Given the description of an element on the screen output the (x, y) to click on. 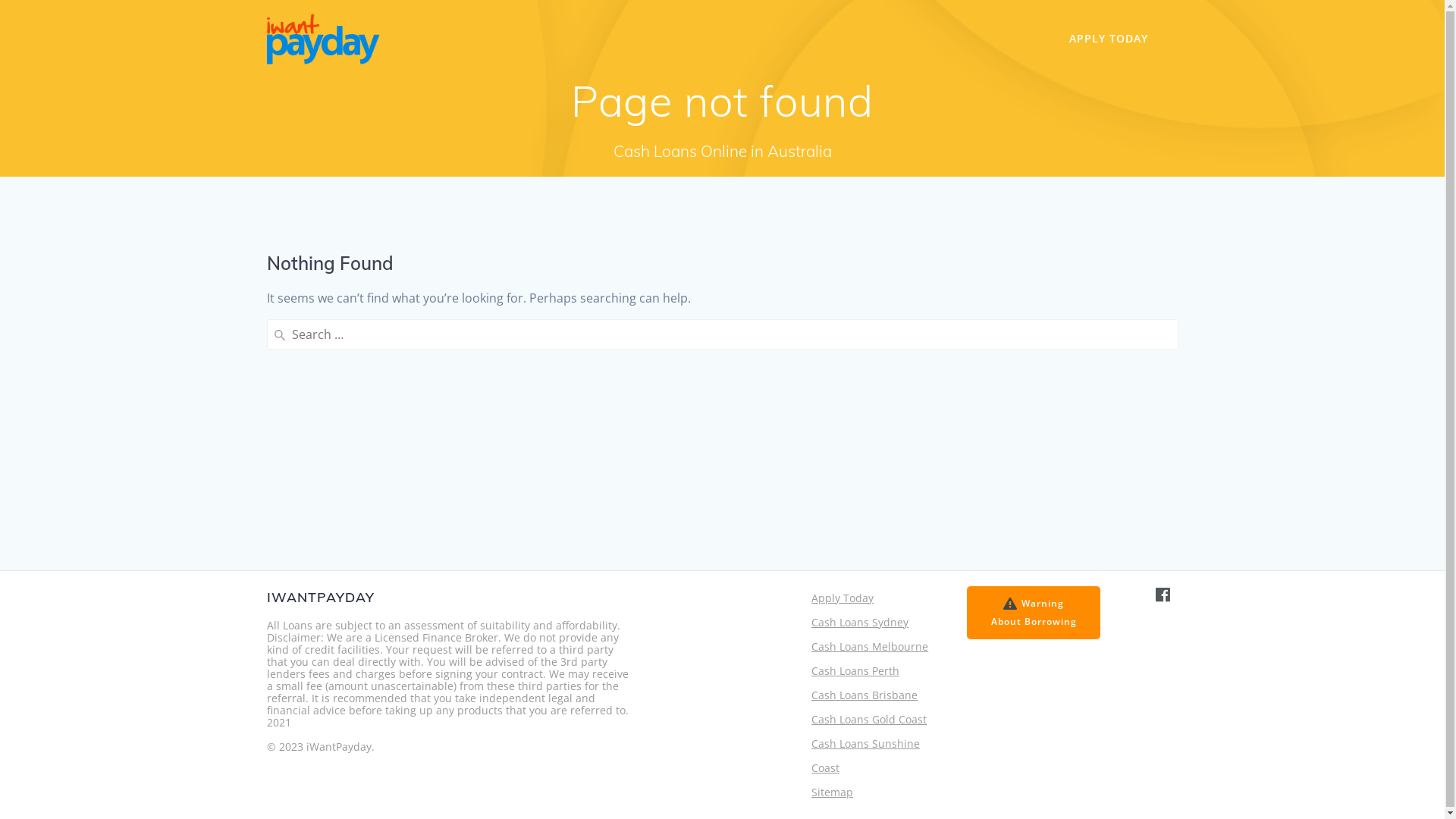
Apply Today Element type: text (842, 597)
APPLY TODAY Element type: text (1108, 38)
Cash Loans Brisbane Element type: text (864, 694)
Cash Loans Sydney Element type: text (859, 622)
Cash Loans Perth Element type: text (855, 670)
Cash Loans Gold Coast Element type: text (868, 719)
Cash Loans Sunshine Coast Element type: text (865, 755)
Cash Loans Melbourne Element type: text (869, 646)
Sitemap Element type: text (832, 791)
Warning About Borrowing Element type: text (1032, 612)
